Given the description of an element on the screen output the (x, y) to click on. 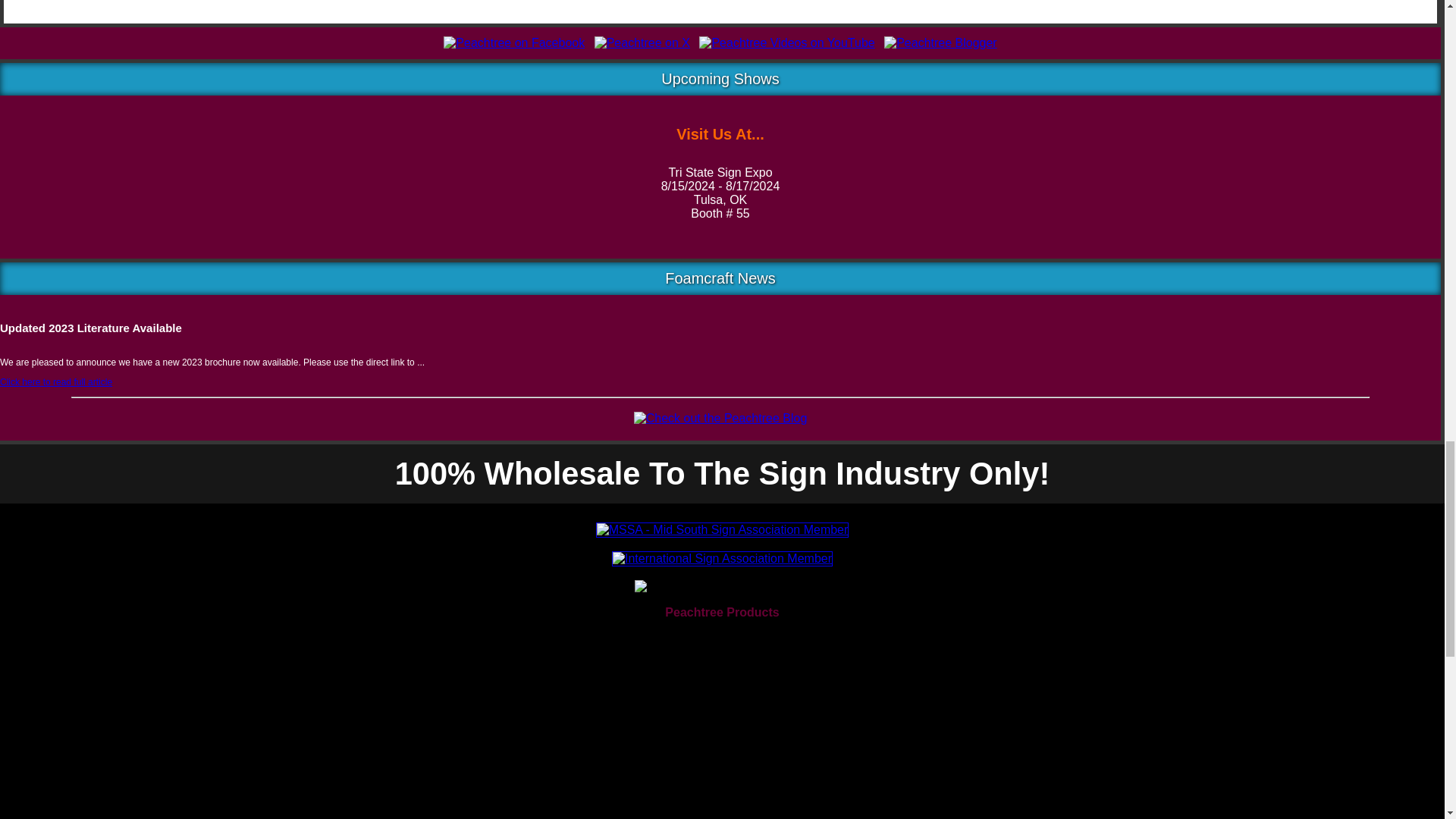
Peachtree on Twitter (642, 42)
Peachtree on Facebook (514, 42)
foam core monuments (100, 704)
Peachtree on YouTube (786, 42)
monument signs (80, 639)
foam signs (65, 661)
Peachtree on Blogger (940, 42)
custom monument signs (89, 726)
faux stone monuments (100, 770)
foam core monument signs (115, 683)
faux brick monument signs (98, 749)
